Given the description of an element on the screen output the (x, y) to click on. 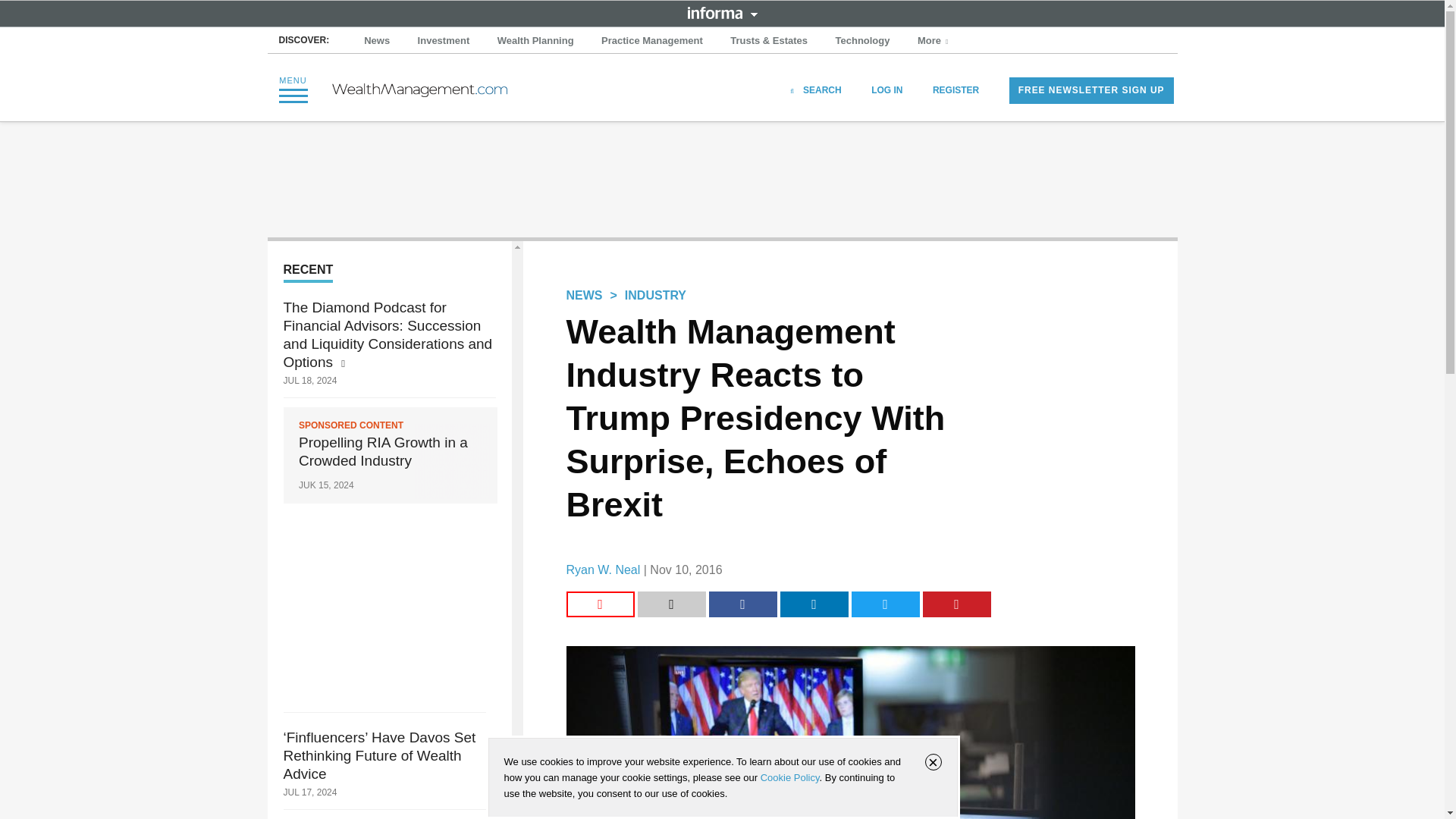
Wealth Planning (535, 41)
Investment (444, 41)
MENU (293, 89)
Cookie Policy (789, 777)
Practice Management (652, 41)
Technology (862, 41)
INFORMA (722, 12)
News (377, 41)
More (934, 41)
